Given the description of an element on the screen output the (x, y) to click on. 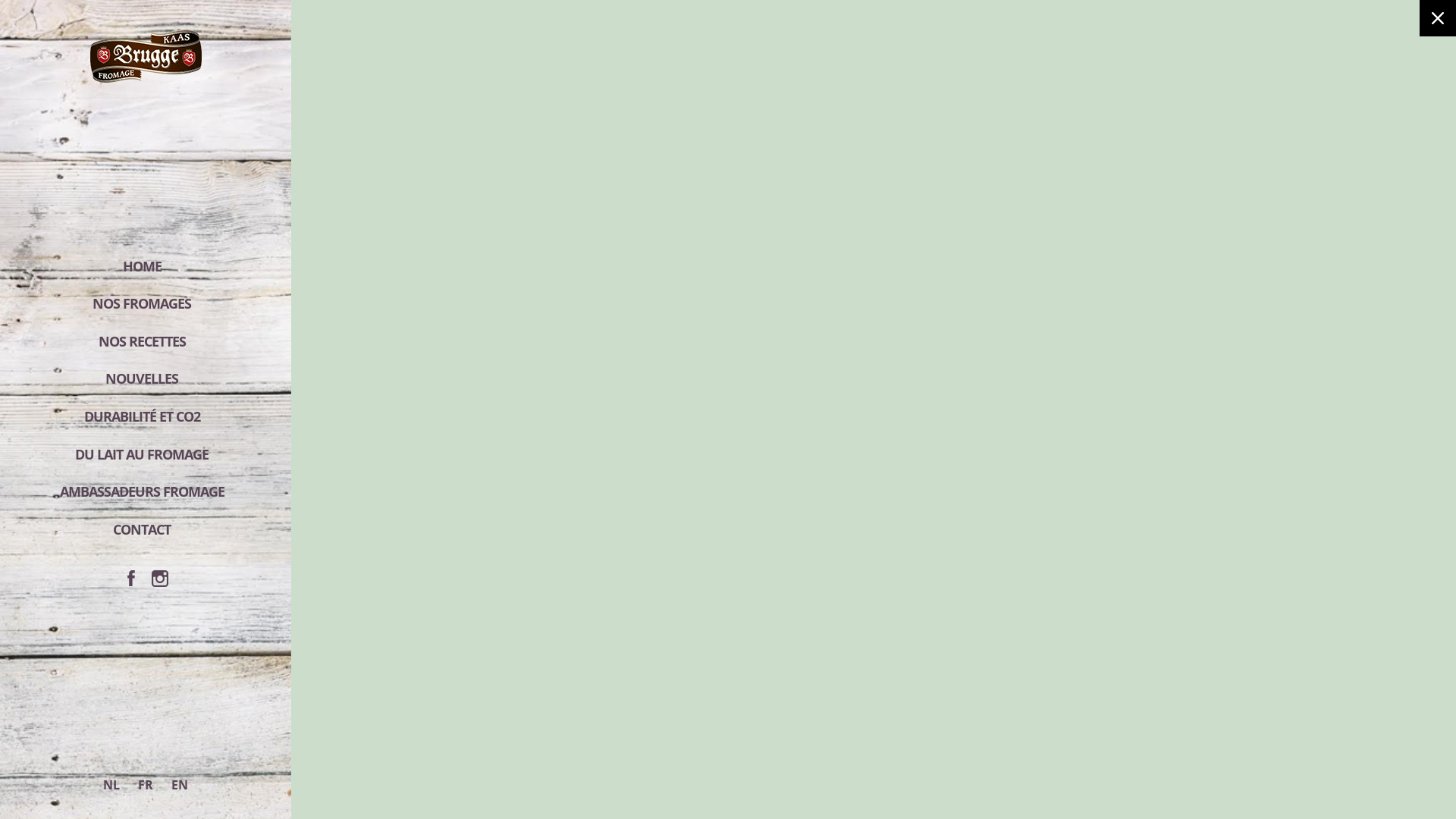
AMBASSADEURS FROMAGE Element type: text (145, 491)
NOS FROMAGES Element type: text (145, 303)
NOS RECETTES Element type: text (145, 341)
FR Element type: text (145, 785)
NOUVELLES Element type: text (145, 378)
HOME Element type: text (145, 266)
NL Element type: text (111, 785)
EN Element type: text (179, 785)
DU LAIT AU FROMAGE Element type: text (145, 453)
CONTACT Element type: text (145, 529)
